Given the description of an element on the screen output the (x, y) to click on. 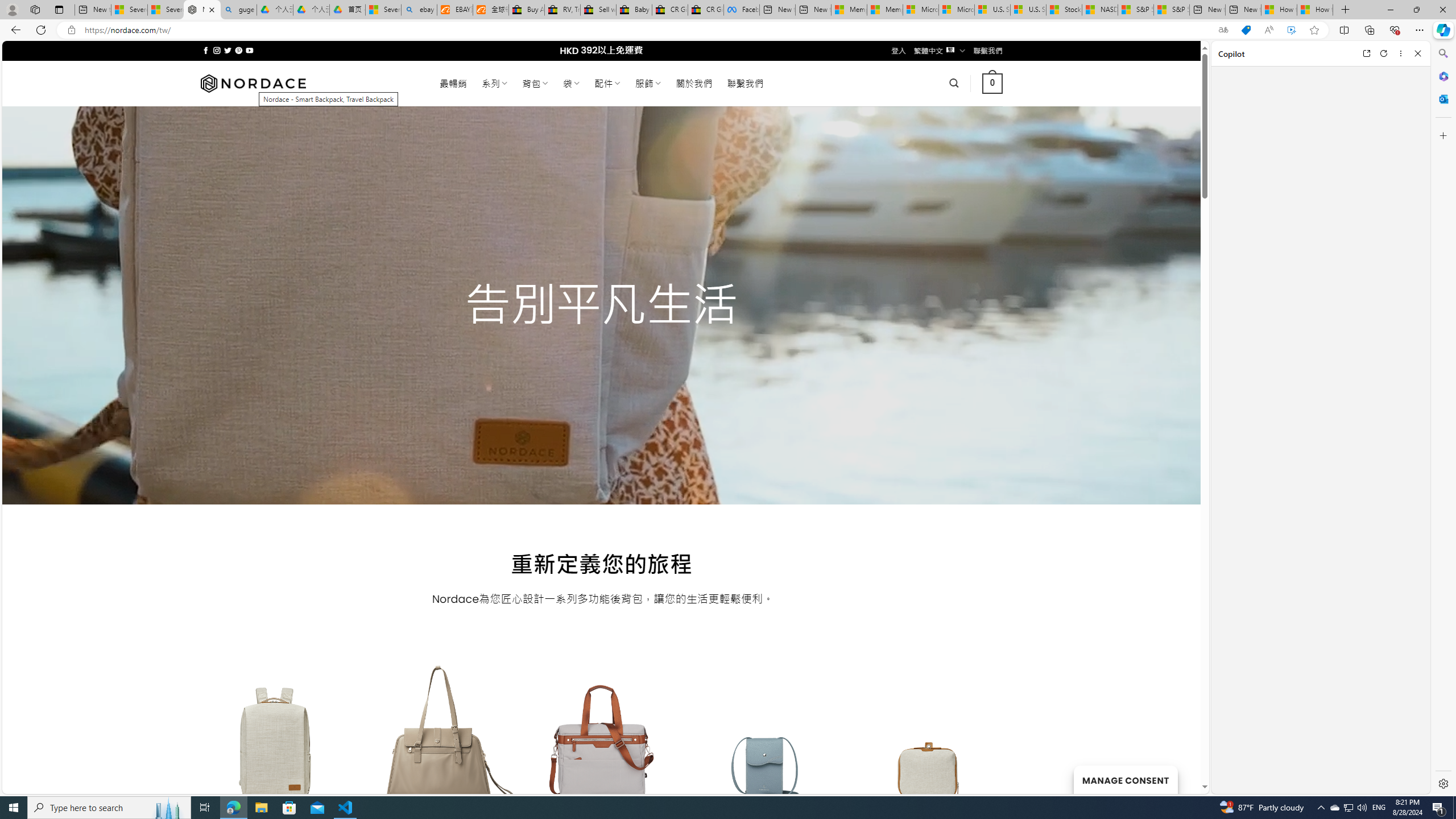
Customize (1442, 135)
Show translate options (1222, 29)
Follow on YouTube (249, 50)
 0  (992, 83)
Side bar (1443, 418)
